Given the description of an element on the screen output the (x, y) to click on. 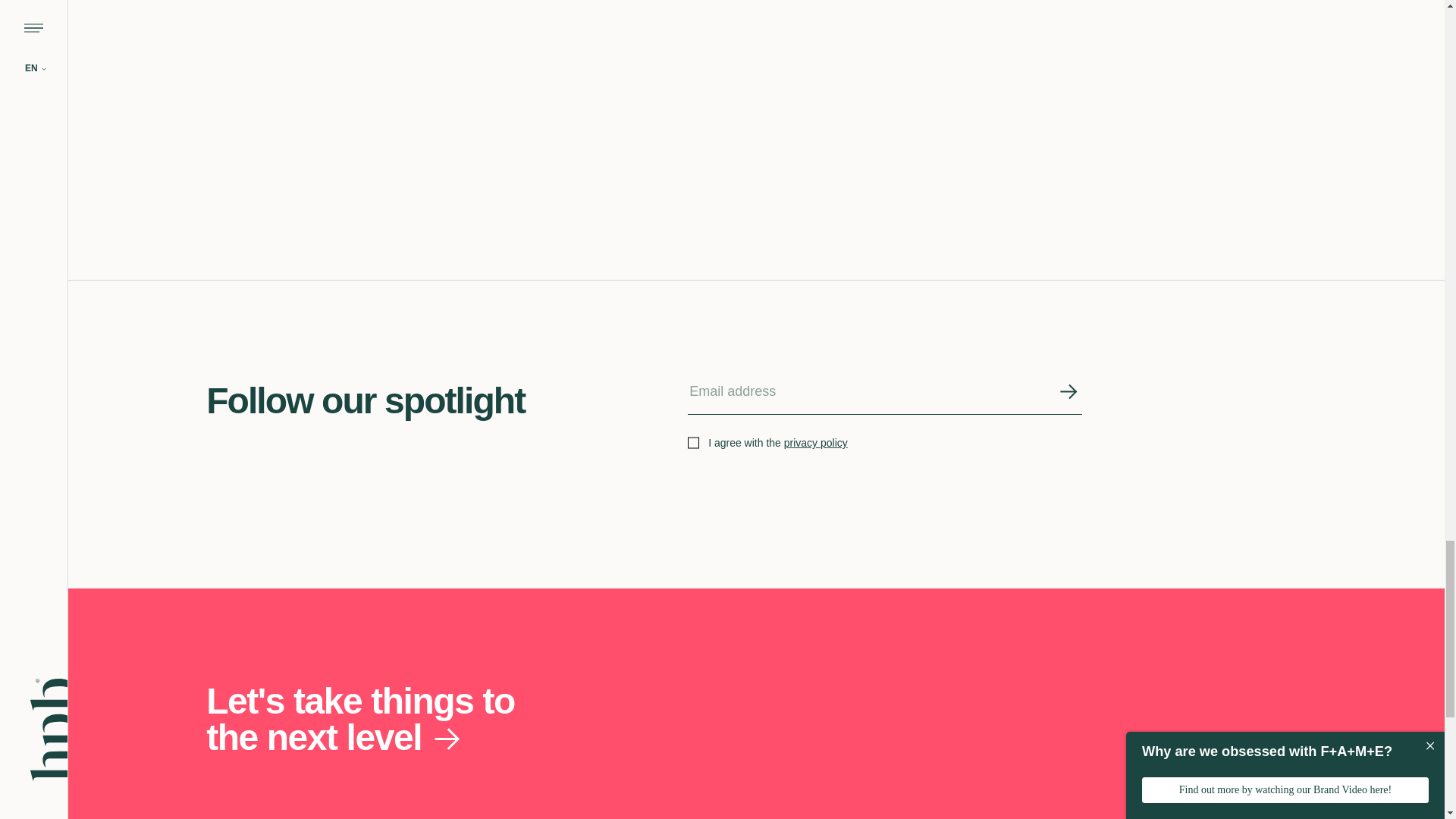
Send (1068, 393)
Let's take things to the next level (376, 719)
privacy policy (815, 442)
